Given the description of an element on the screen output the (x, y) to click on. 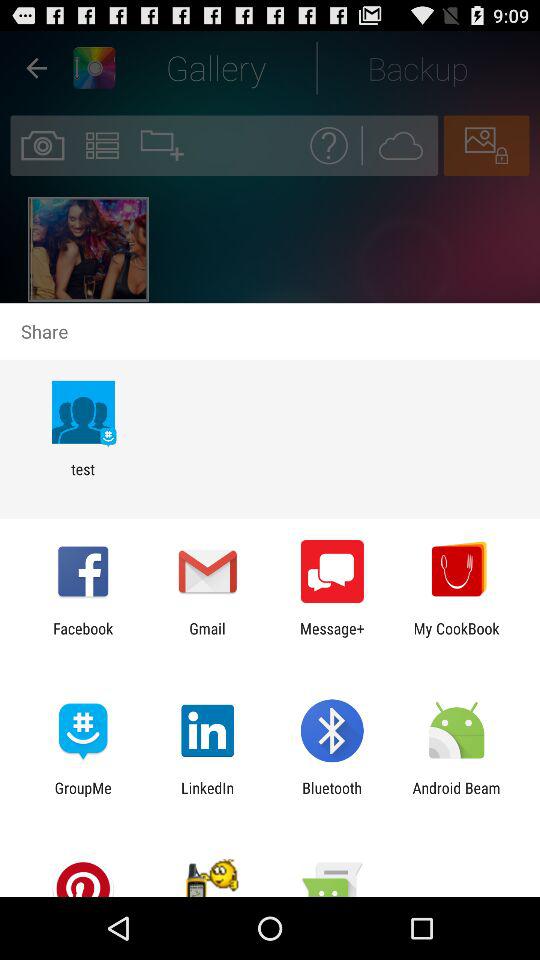
click app next to my cookbook app (332, 637)
